Given the description of an element on the screen output the (x, y) to click on. 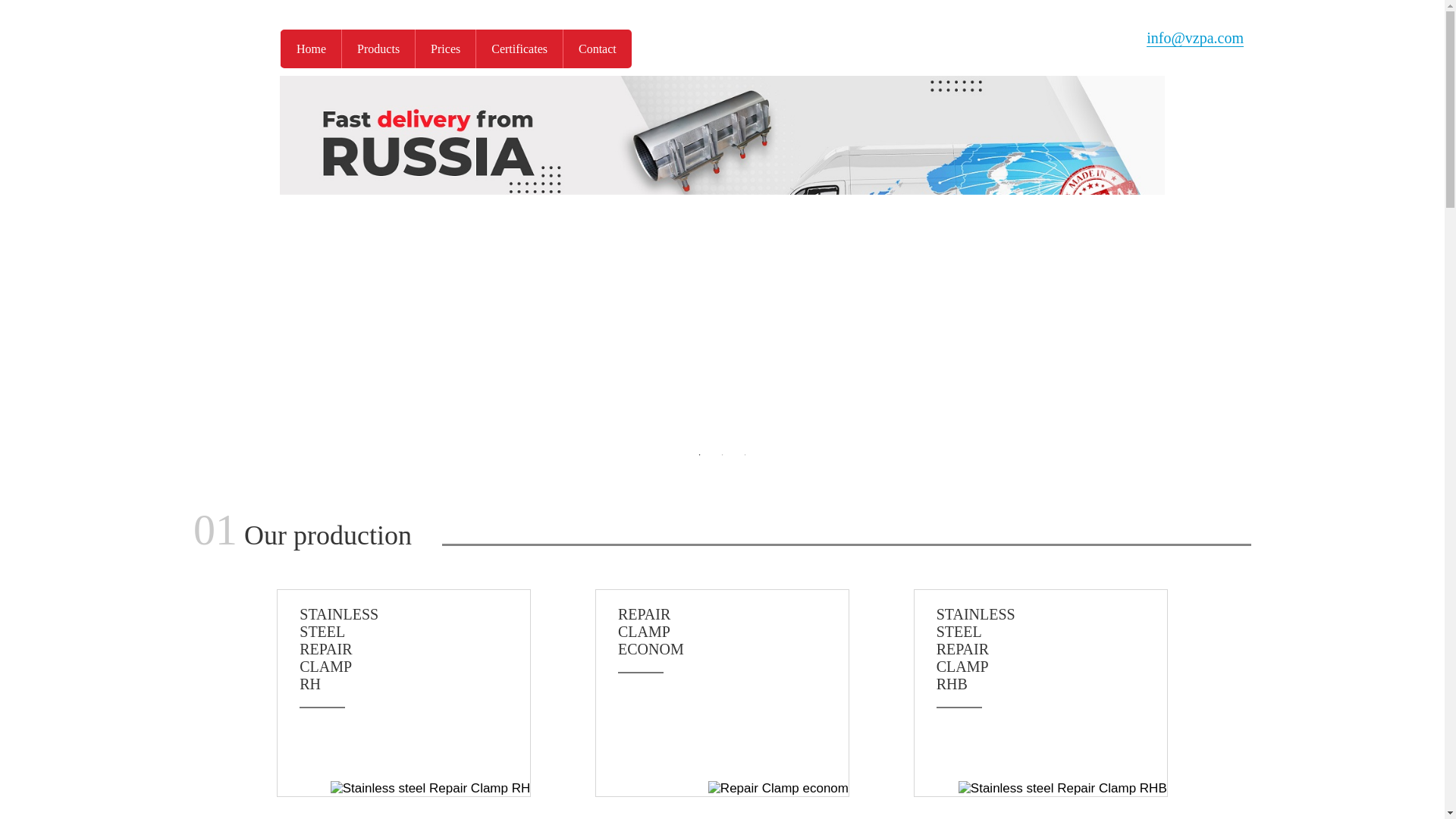
3 (744, 454)
Prices (445, 48)
2 (721, 454)
Home (310, 48)
Certificates (519, 48)
Contact (732, 631)
Products (1051, 649)
1 (596, 48)
